Given the description of an element on the screen output the (x, y) to click on. 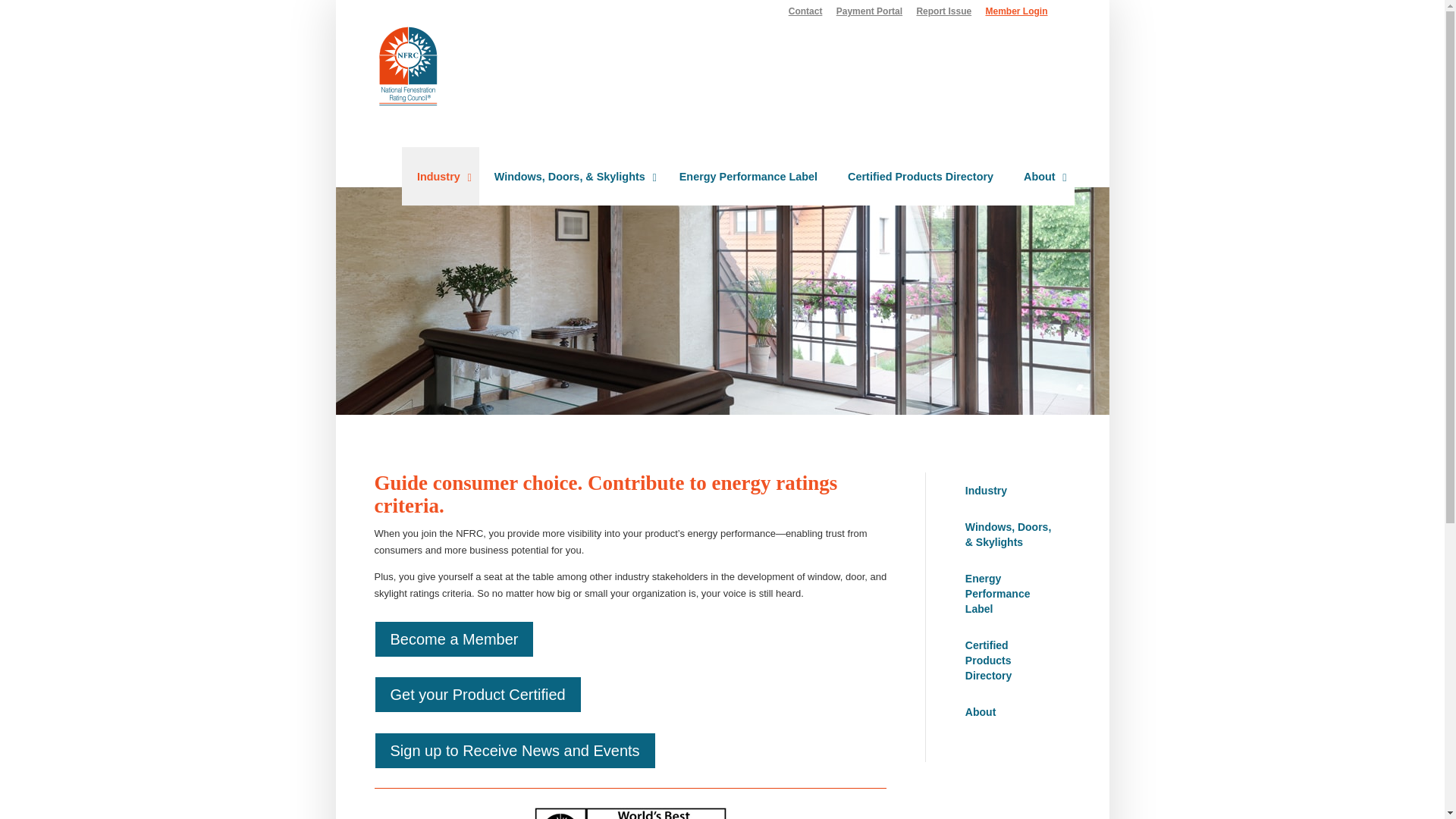
Payment Portal (868, 14)
Contact (805, 14)
Industry (440, 176)
WindowLabel (630, 813)
Member Login (1015, 14)
Report Issue (943, 14)
